Given the description of an element on the screen output the (x, y) to click on. 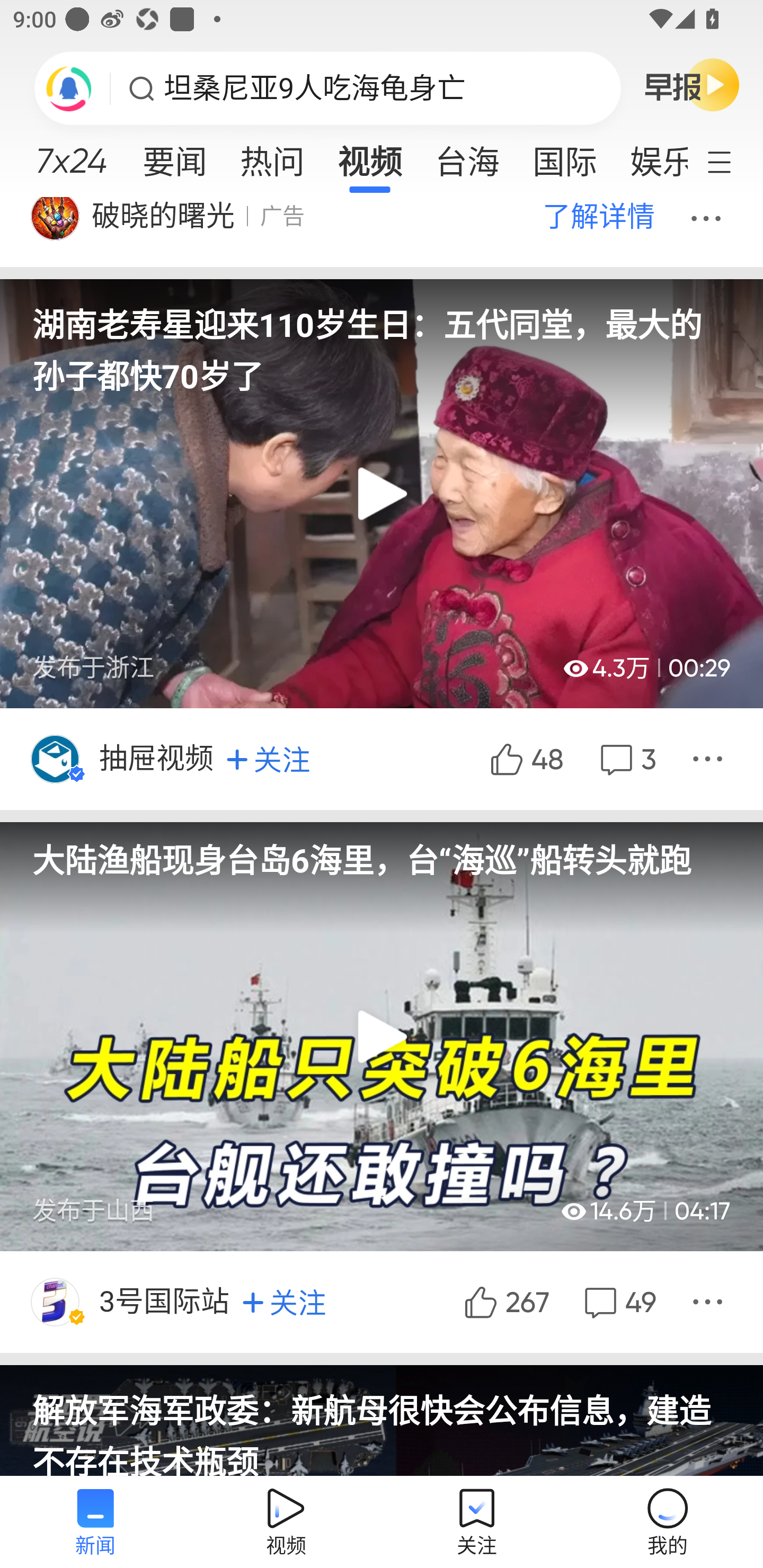
早晚报 (691, 84)
刷新 (68, 88)
坦桑尼亚9人吃海龟身亡 (314, 88)
7x24 (70, 154)
要闻 (174, 155)
热问 (272, 155)
视频 (369, 155)
台海 (466, 155)
国际 (564, 155)
娱乐 (650, 155)
 定制频道 (731, 160)
破晓的曙光 广告 了解详情  不感兴趣 (381, 231)
了解详情 (598, 216)
 不感兴趣 (708, 216)
湖南老寿星迎来110岁生日：五代同堂，最大的孙子都快70岁了 (381, 338)
48赞 (525, 759)
评论  3 (625, 759)
分享  (709, 759)
抽屉视频 (157, 759)
关注 (268, 758)
大陆渔船现身台岛6海里，台“海巡”船转头就跑 (381, 850)
267赞 (504, 1302)
评论  49 (617, 1302)
分享  (709, 1302)
3号国际站 (165, 1301)
关注 (283, 1302)
